Given the description of an element on the screen output the (x, y) to click on. 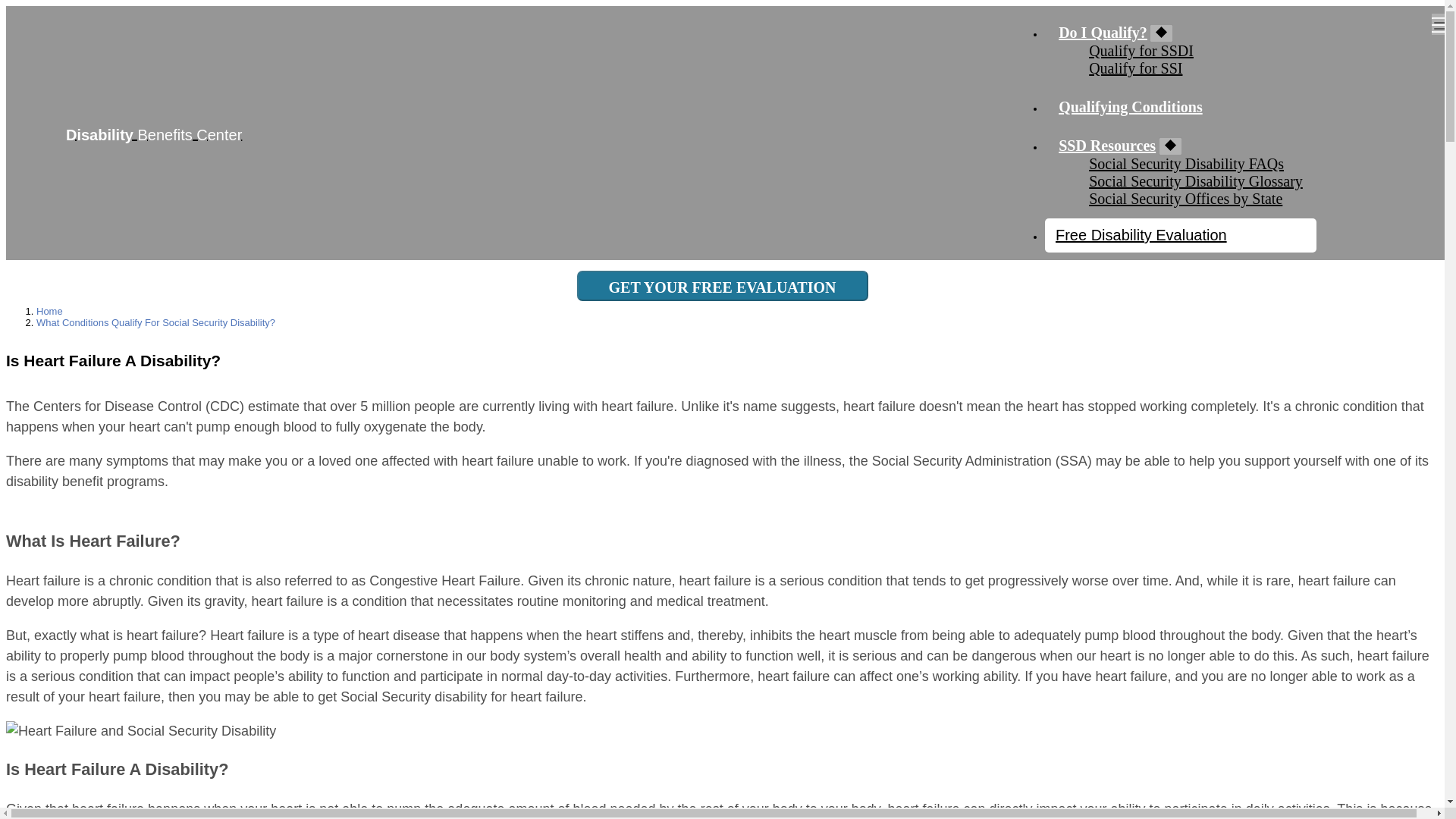
What Conditions Qualify For Social Security Disability? (155, 322)
Qualify for SSI (1135, 67)
Social Security Disability FAQs (1186, 163)
Social Security Offices by State (1185, 198)
Do I Qualify? (1102, 32)
Skip to main content (722, 7)
SSD Resources (1107, 145)
Qualify for SSDI (1141, 50)
GET YOUR FREE EVALUATION (721, 286)
